Given the description of an element on the screen output the (x, y) to click on. 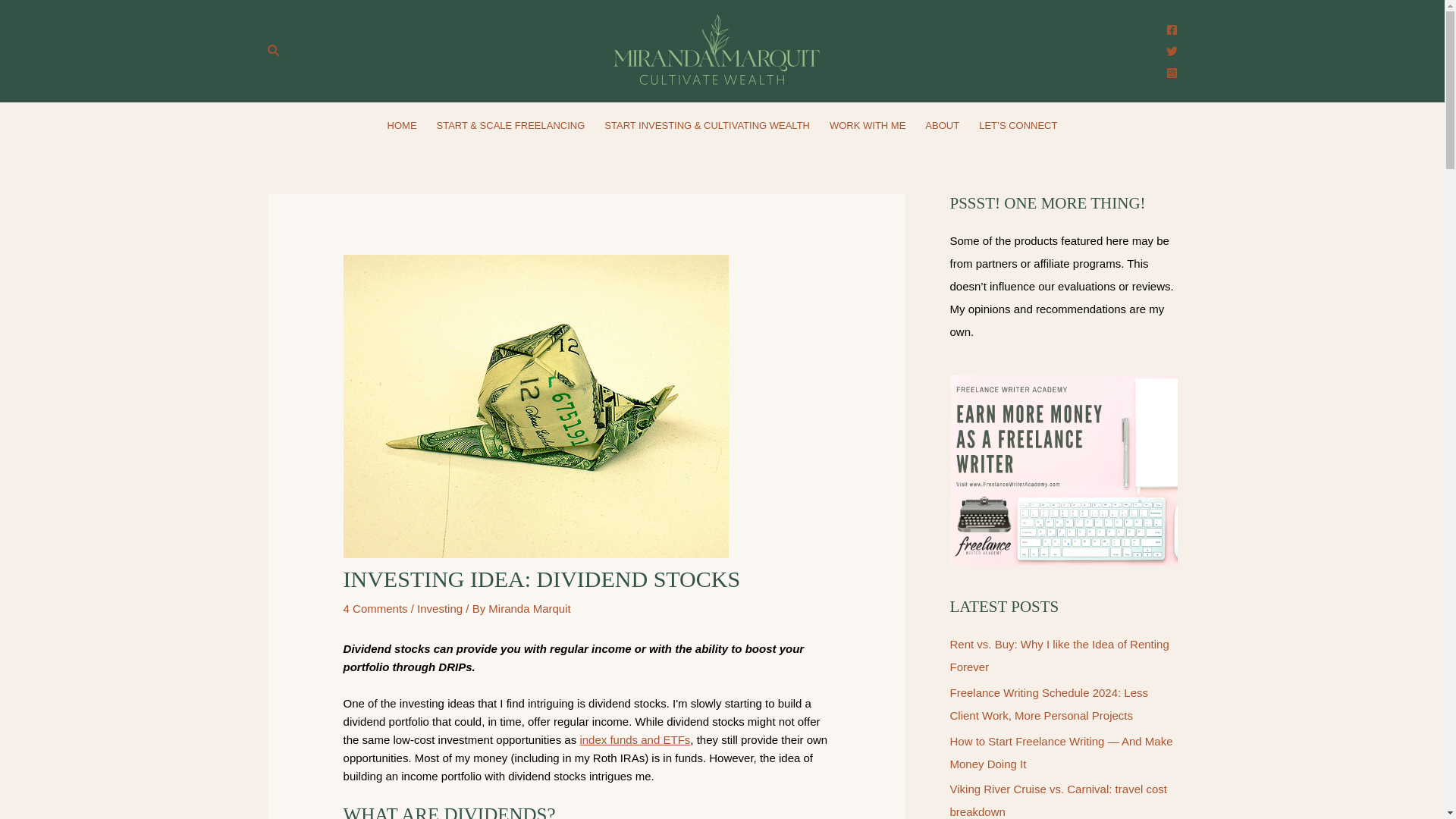
View all posts by Miranda Marquit (528, 608)
Miranda Marquit (528, 608)
4 Comments (375, 608)
index funds and ETFs (634, 739)
HOME (401, 125)
Investing (439, 608)
WORK WITH ME (867, 125)
ABOUT (942, 125)
